Given the description of an element on the screen output the (x, y) to click on. 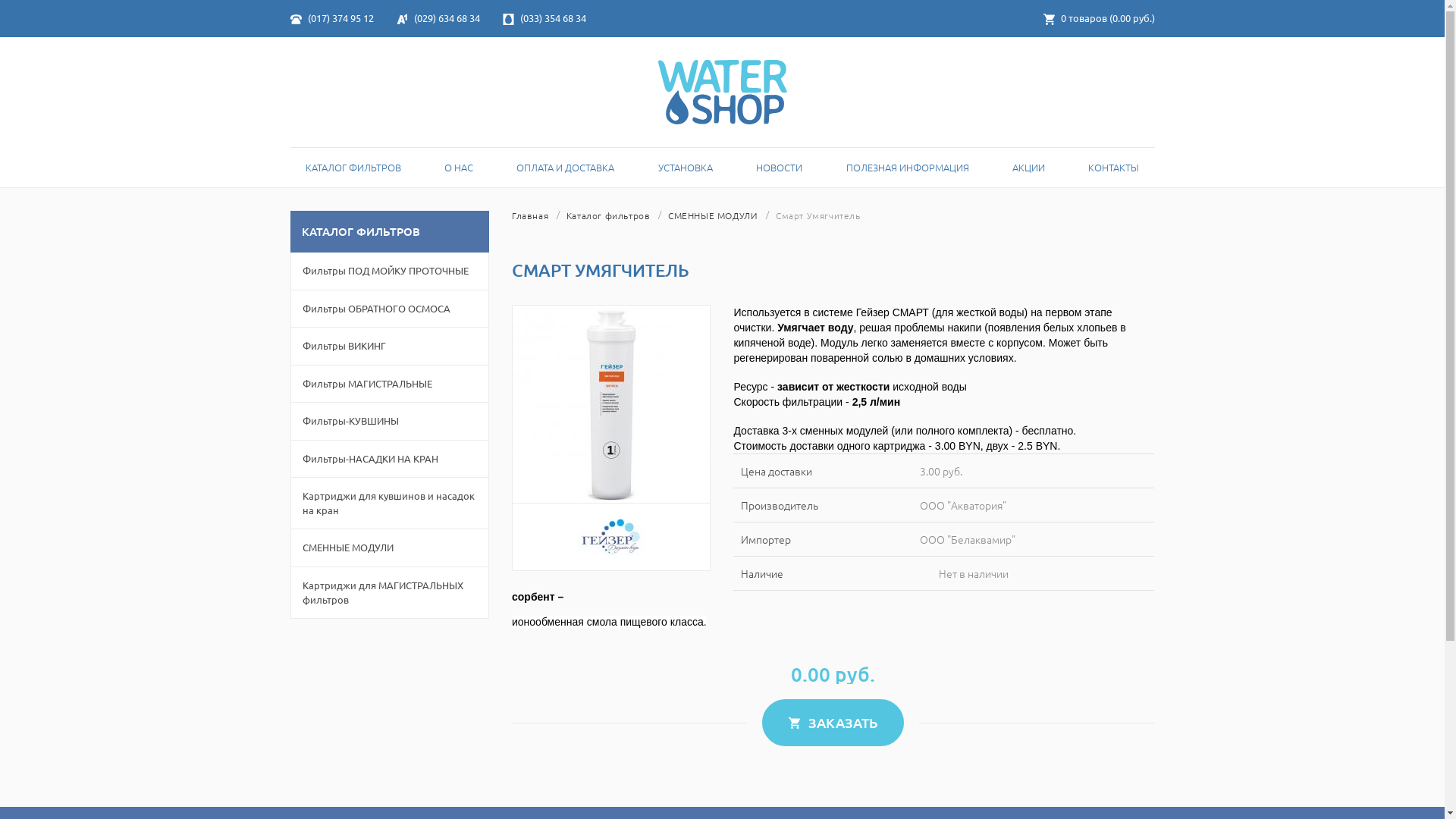
(033) 354 68 34 Element type: text (543, 17)
(029) 634 68 34 Element type: text (437, 17)
(017) 374 95 12 Element type: text (331, 17)
